Given the description of an element on the screen output the (x, y) to click on. 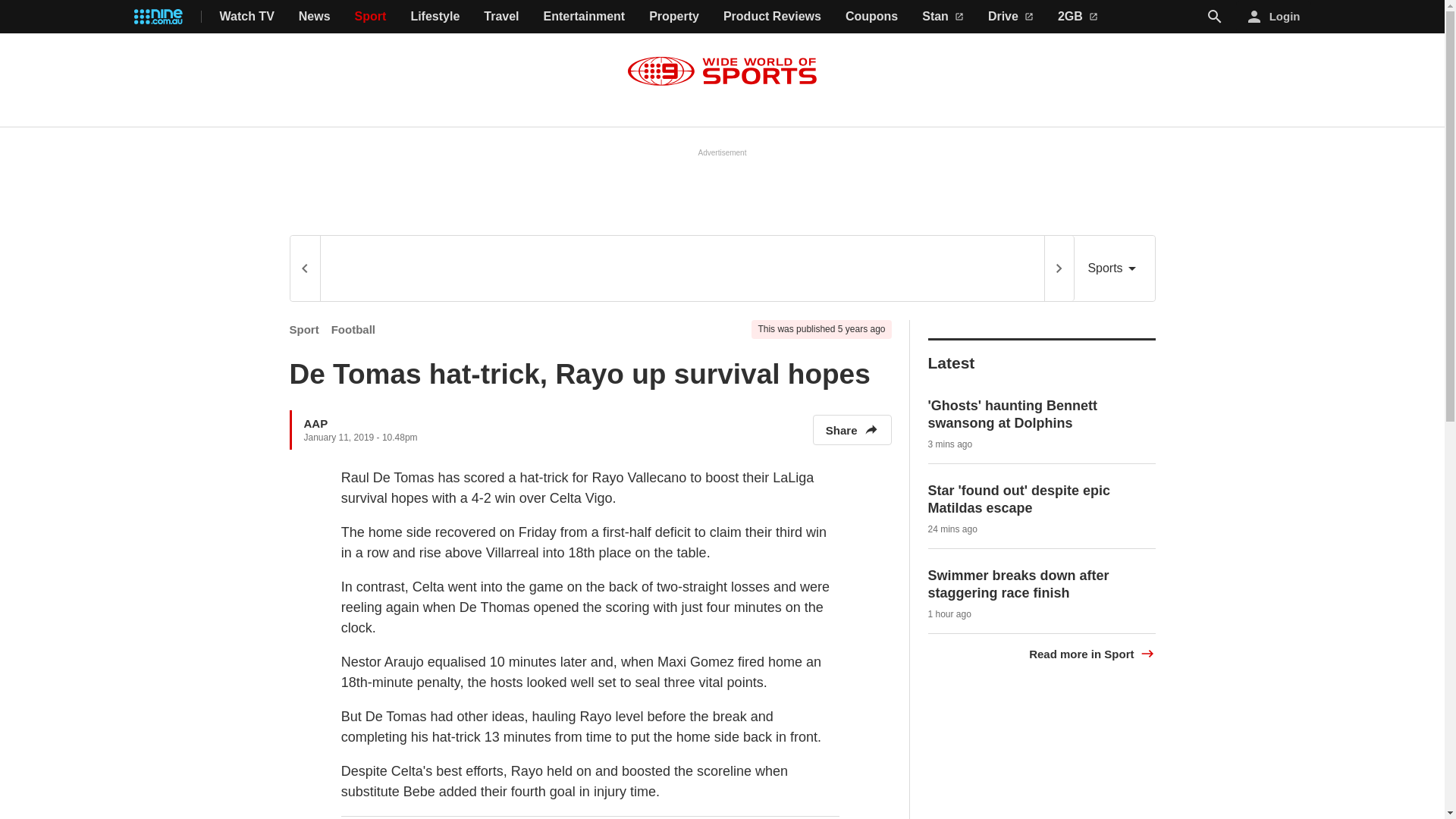
Search (1214, 16)
Coupons (871, 16)
Search (1214, 16)
Sport (303, 328)
Sports (1114, 268)
Star 'found out' despite epic Matildas escape (1019, 499)
Travel (500, 16)
Drive (1010, 16)
'Ghosts' haunting Bennett swansong at Dolphins (1012, 414)
Lifestyle (435, 16)
Product Reviews (772, 16)
Share (851, 429)
Read more in Sport (1091, 653)
Watch TV (247, 16)
Entertainment (584, 16)
